Given the description of an element on the screen output the (x, y) to click on. 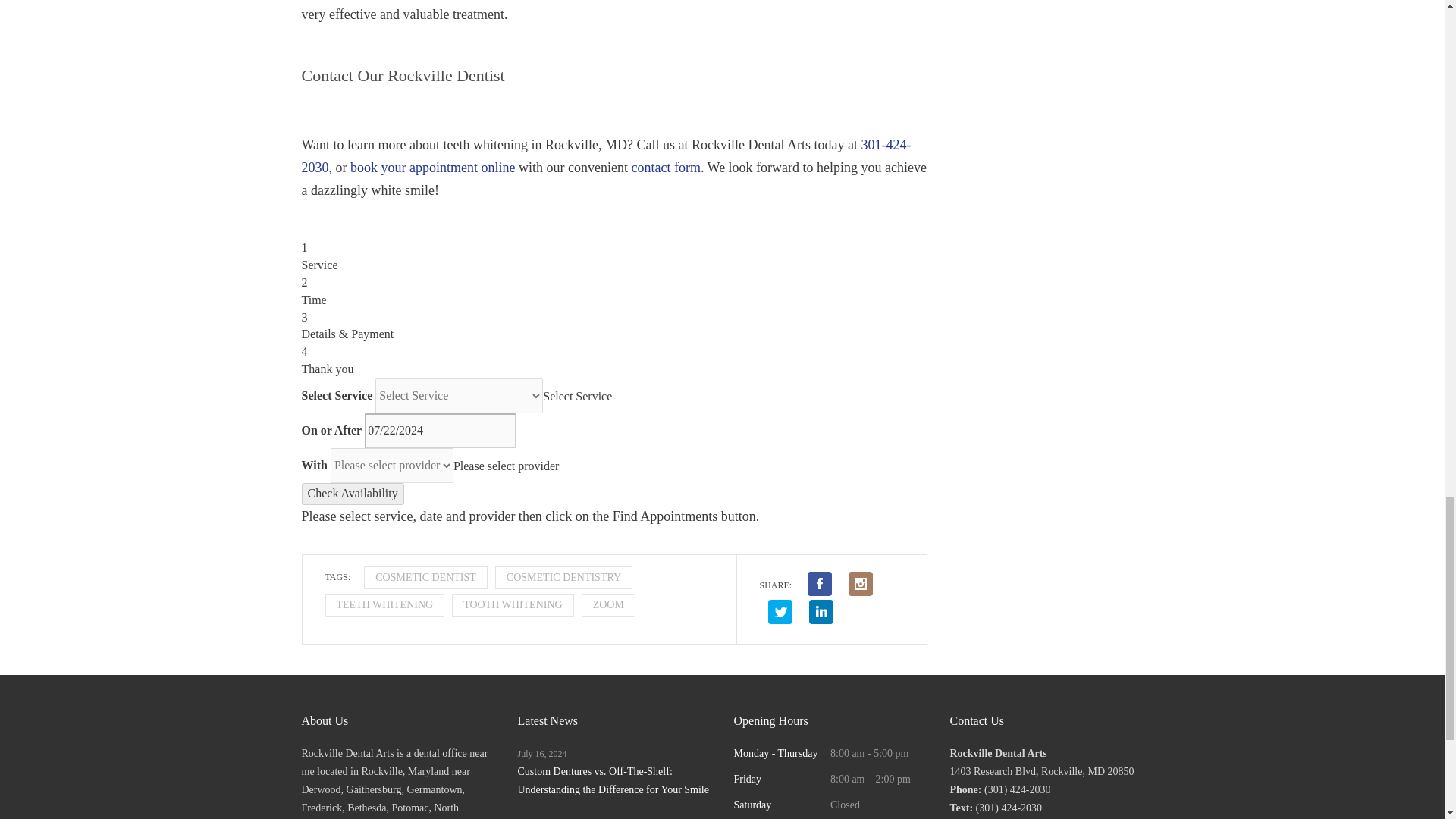
Select Service (577, 395)
Please select provider (505, 464)
